Given the description of an element on the screen output the (x, y) to click on. 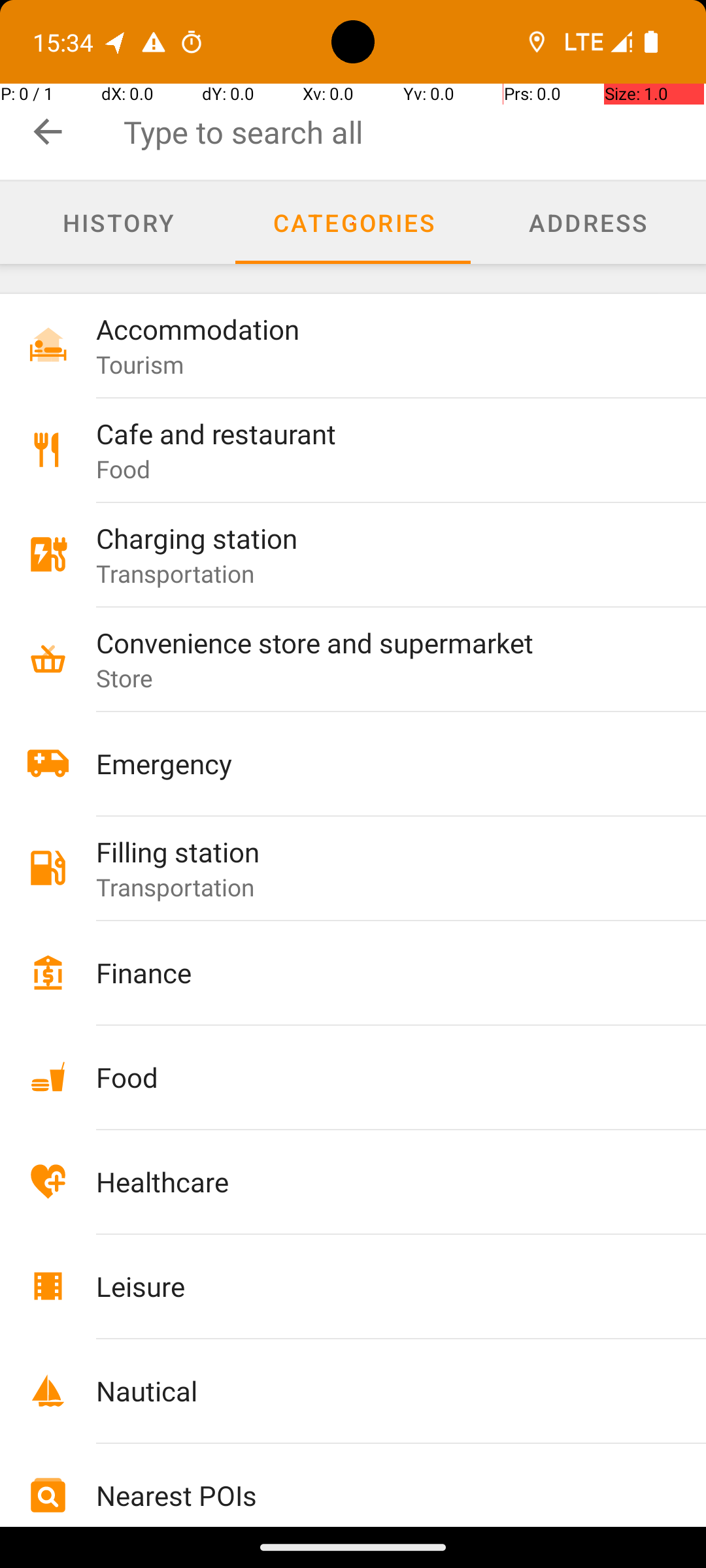
Type to search all Element type: android.widget.EditText (414, 131)
History Element type: android.widget.LinearLayout (117, 222)
Categories Element type: android.widget.LinearLayout (352, 222)
Address Element type: android.widget.LinearLayout (588, 222)
HISTORY Element type: android.widget.TextView (117, 222)
CATEGORIES Element type: android.widget.TextView (352, 222)
ADDRESS Element type: android.widget.TextView (587, 222)
Accommodation Element type: android.widget.TextView (373, 328)
Tourism Element type: android.widget.TextView (140, 363)
Cafe and restaurant Element type: android.widget.TextView (373, 433)
Charging station Element type: android.widget.TextView (373, 537)
Transportation Element type: android.widget.TextView (175, 572)
Convenience store and supermarket Element type: android.widget.TextView (373, 642)
Store Element type: android.widget.TextView (124, 677)
Emergency Element type: android.widget.TextView (373, 763)
Filling station Element type: android.widget.TextView (373, 851)
Healthcare Element type: android.widget.TextView (373, 1181)
Leisure Element type: android.widget.TextView (373, 1285)
Nautical Element type: android.widget.TextView (373, 1390)
Nearest POIs Element type: android.widget.TextView (373, 1494)
OpenTracks notification: Distance: 8.20 mi Element type: android.widget.ImageView (115, 41)
